Given the description of an element on the screen output the (x, y) to click on. 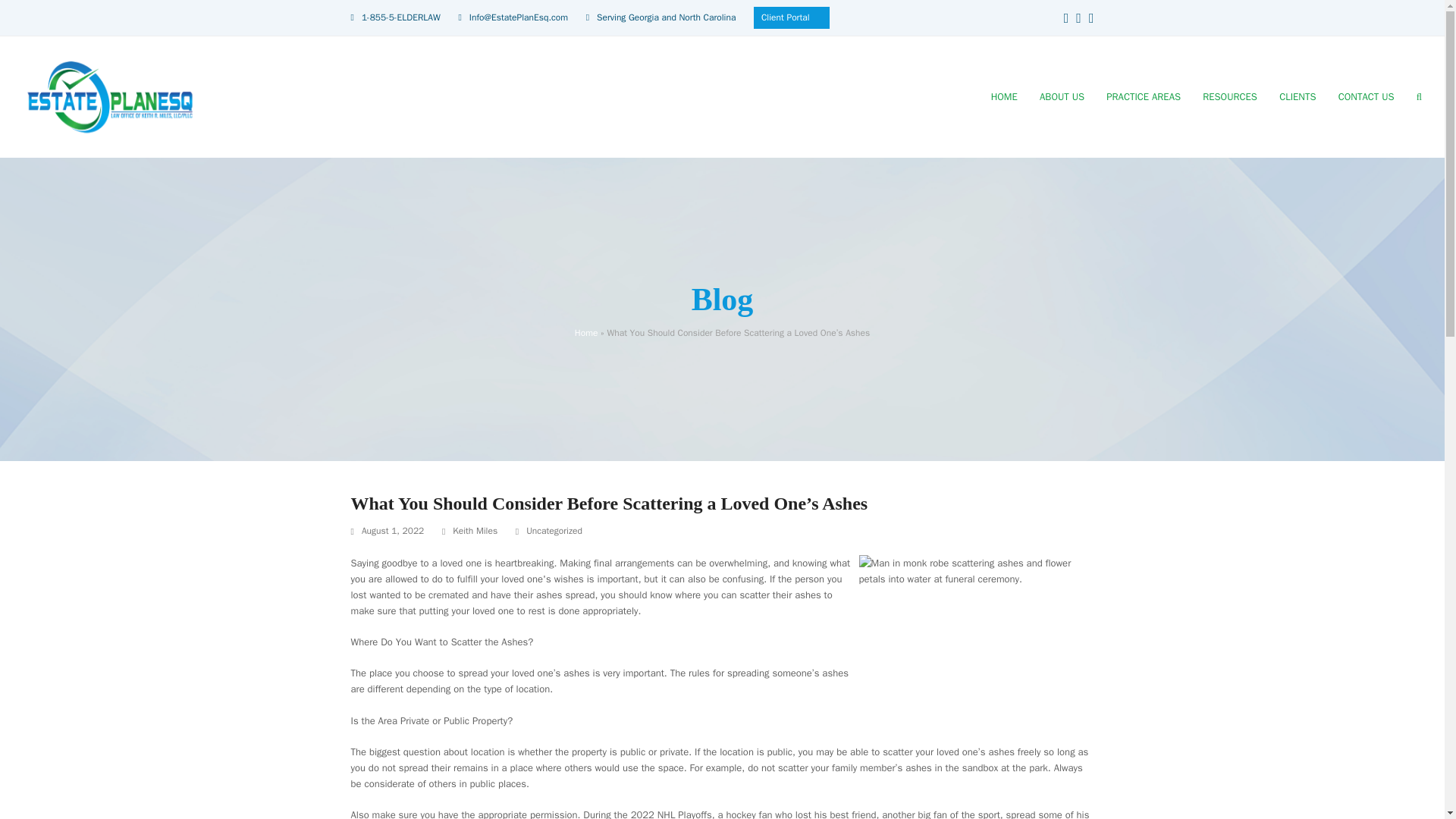
LinkedIn (1078, 17)
ABOUT US (1061, 96)
PRACTICE AREAS (1143, 96)
HOME (1004, 96)
Keith Miles (474, 530)
Uncategorized (553, 530)
Home (586, 332)
Posts by Keith Miles (474, 530)
CLIENTS (1297, 96)
Twitter (1091, 17)
Facebook (1066, 17)
1-855-5-ELDERLAW (401, 17)
RESOURCES (1229, 96)
CONTACT US (1366, 96)
Client Portal (785, 17)
